Given the description of an element on the screen output the (x, y) to click on. 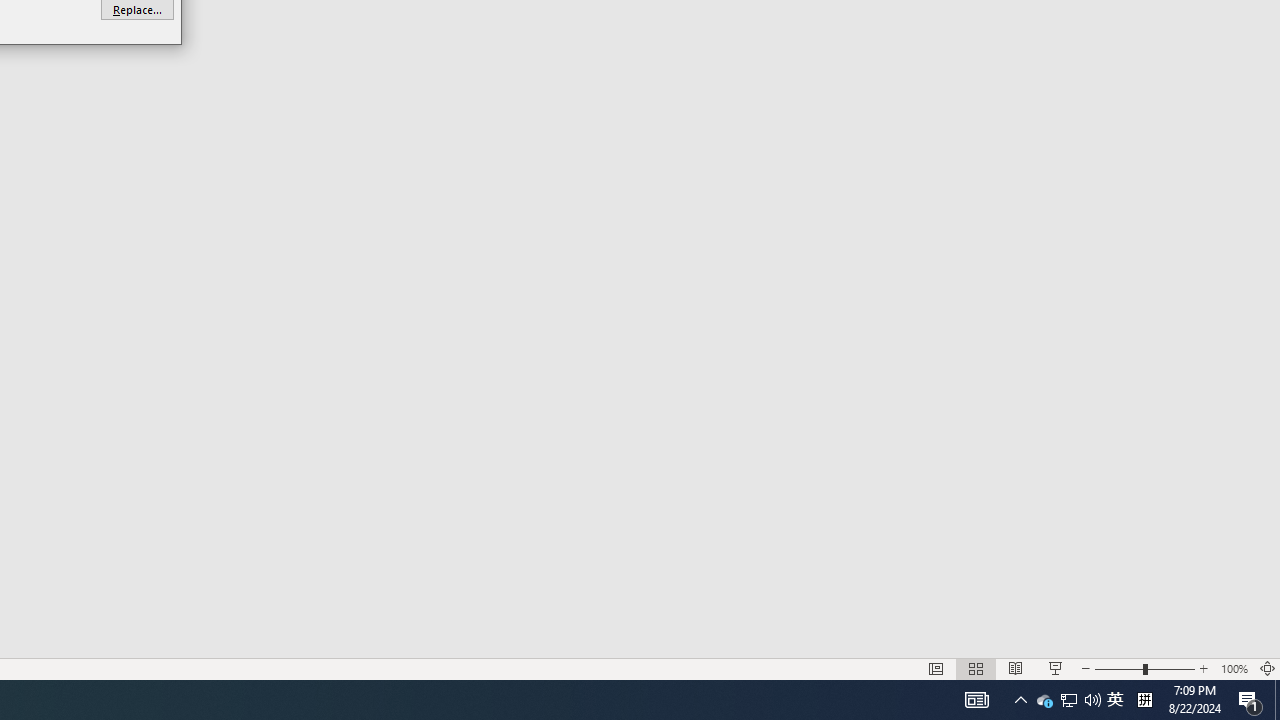
Action Center, 1 new notification (1044, 699)
Zoom 100% (1250, 699)
